Given the description of an element on the screen output the (x, y) to click on. 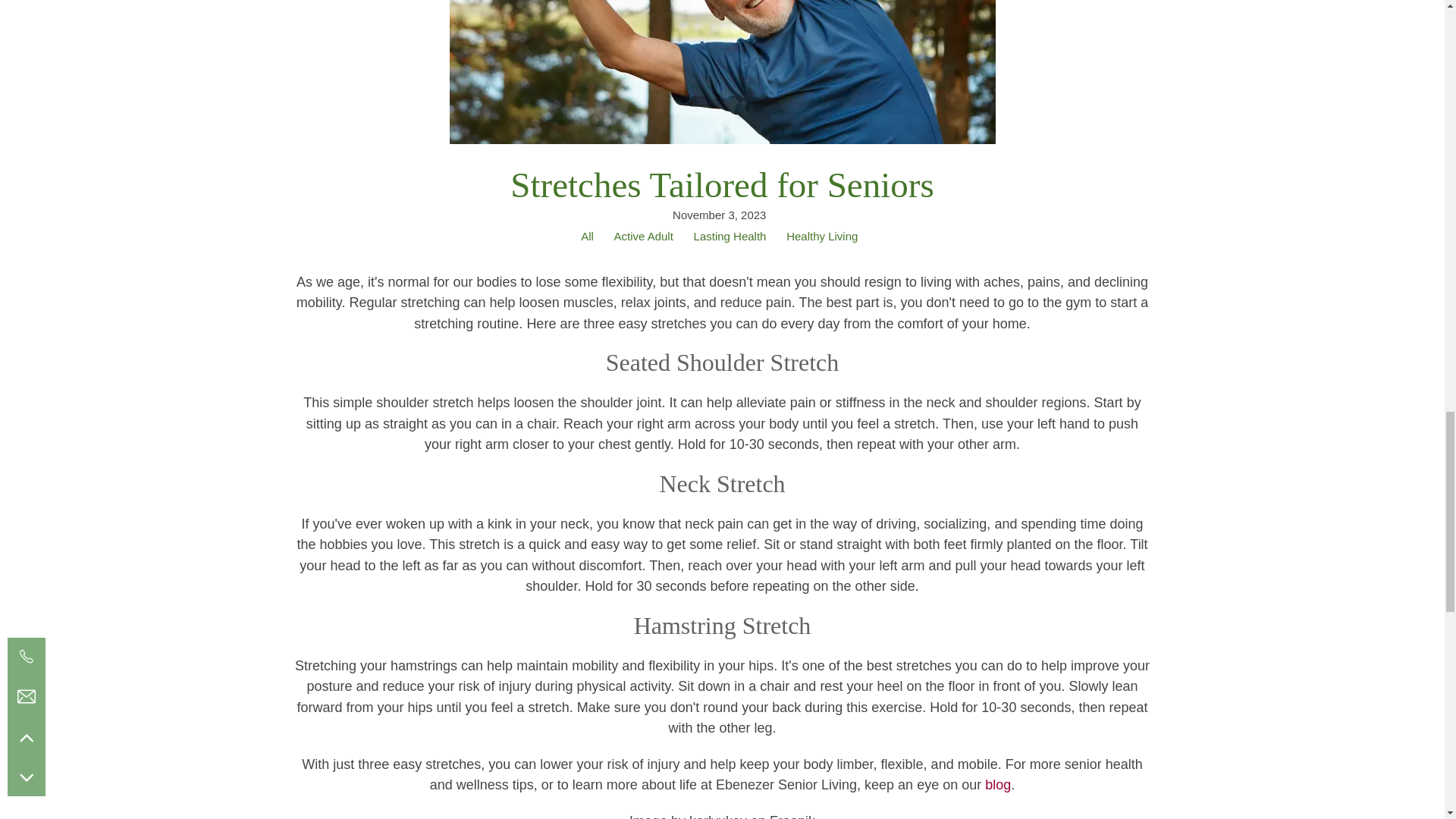
Active Adult (643, 236)
Healthy Living (821, 236)
All (587, 236)
blog (997, 784)
Lasting Health (729, 236)
